Given the description of an element on the screen output the (x, y) to click on. 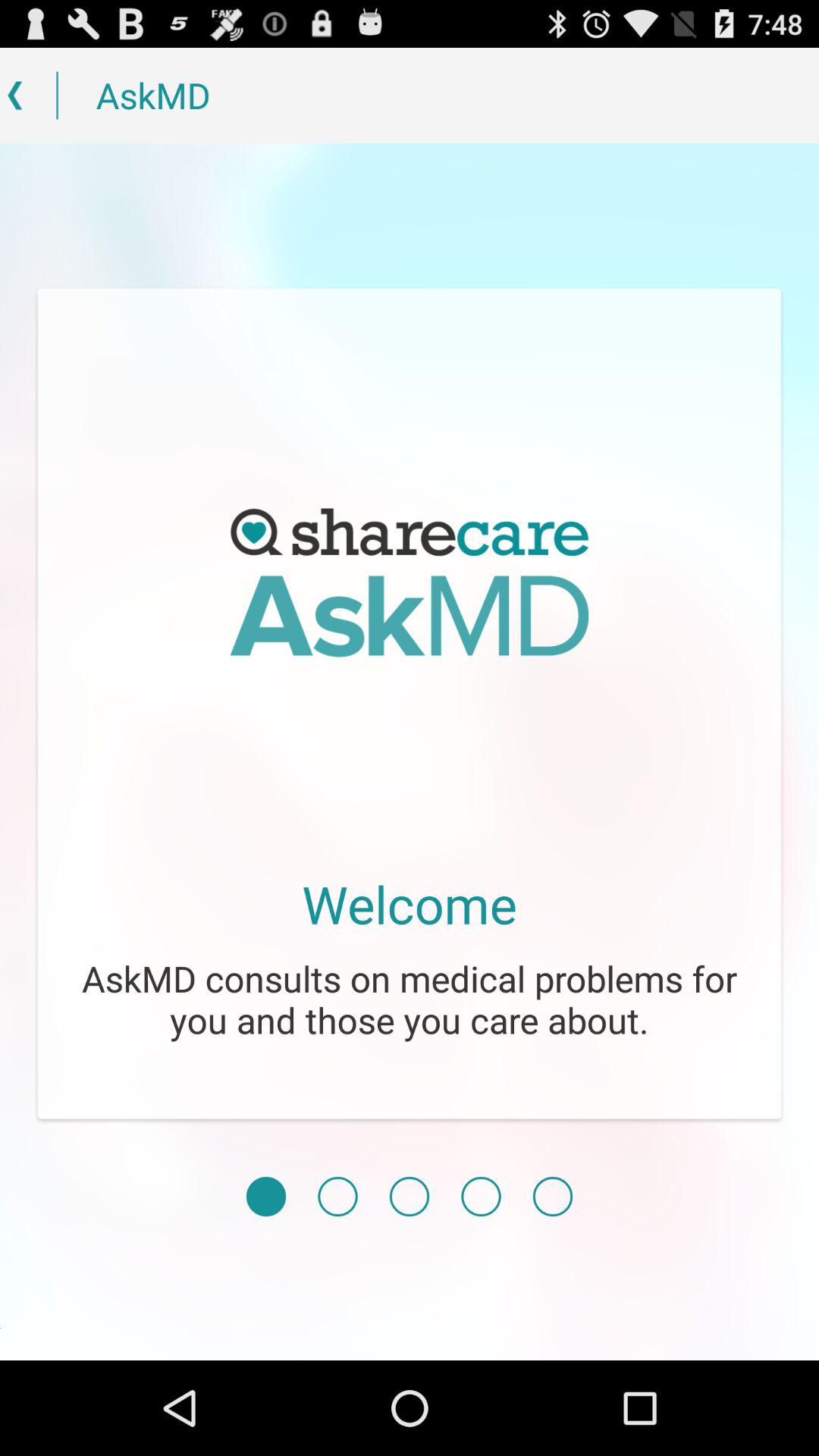
click the item below askmd consults on (552, 1196)
